Given the description of an element on the screen output the (x, y) to click on. 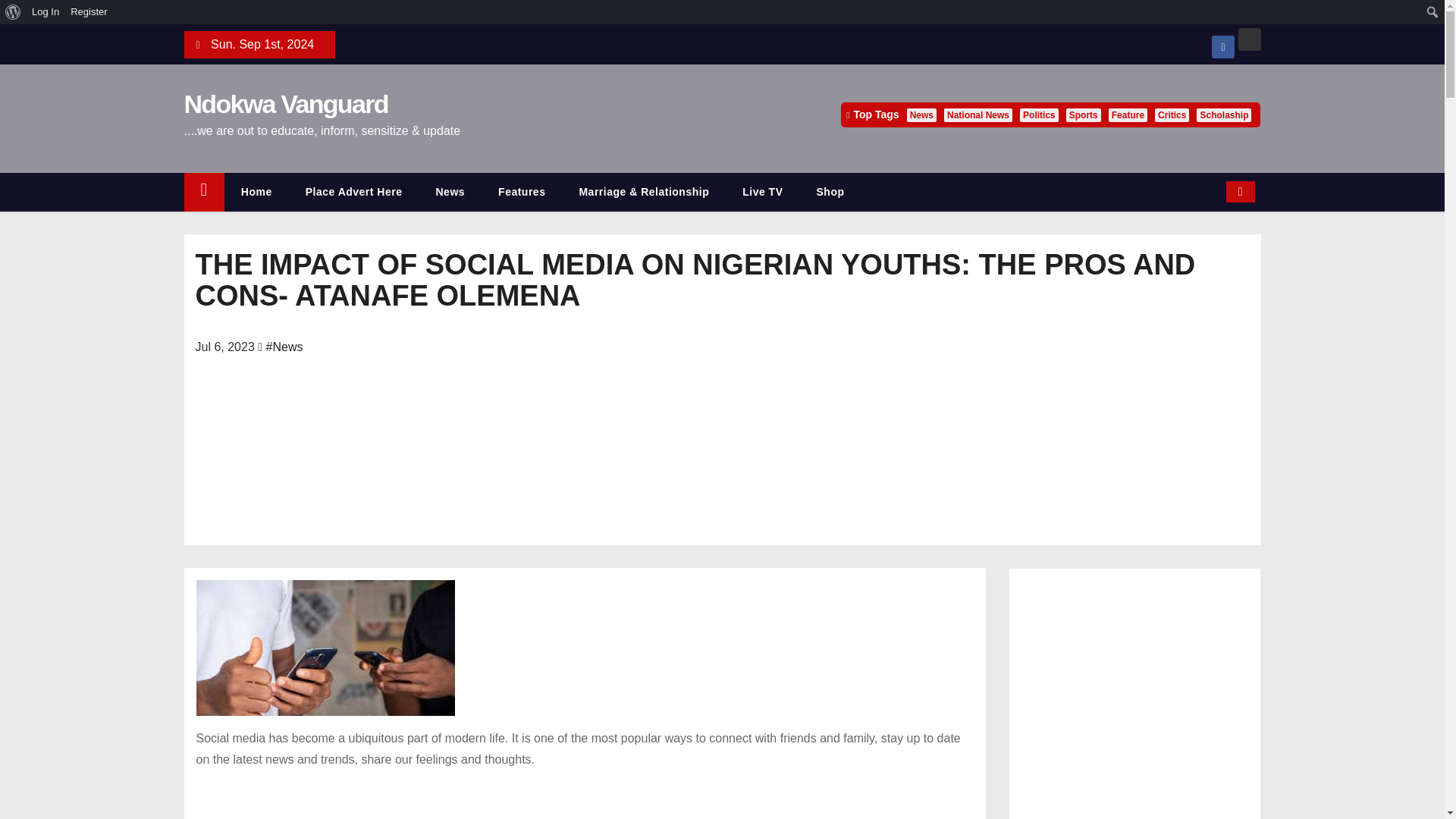
Register (89, 12)
Ndokwa Vanguard (285, 103)
Features (521, 191)
National News (977, 115)
Live TV (762, 191)
News (450, 191)
Sports (1082, 115)
News (450, 191)
Log In (45, 12)
Home (256, 191)
